Given the description of an element on the screen output the (x, y) to click on. 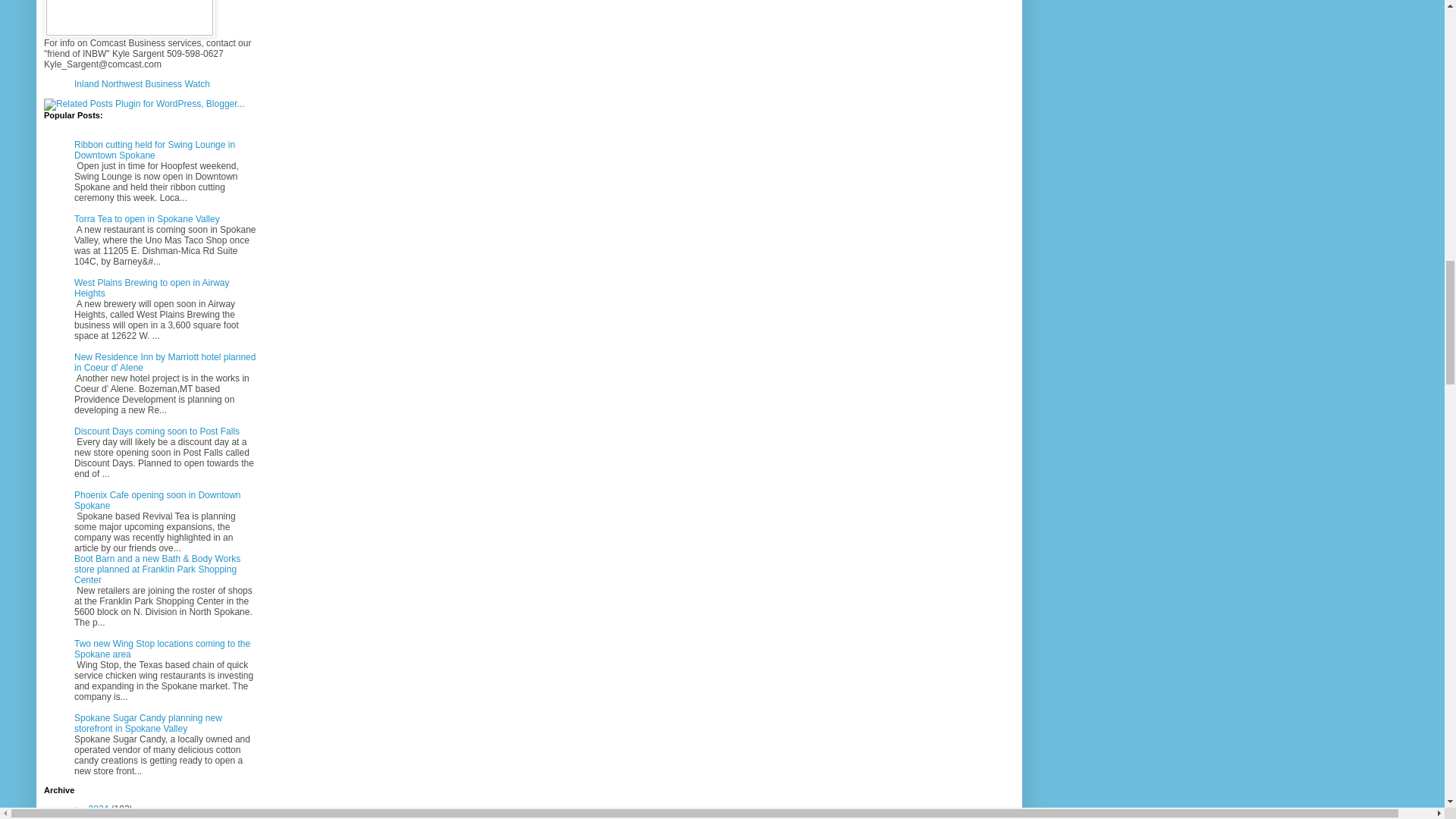
Discount Days coming soon to Post Falls (157, 430)
Inland Northwest Business Watch (141, 83)
Ribbon cutting held for Swing Lounge in Downtown Spokane (154, 149)
West Plains Brewing to open in Airway Heights (152, 287)
Phoenix Cafe opening soon in Downtown Spokane (157, 500)
Torra Tea to open in Spokane Valley (146, 218)
